Given the description of an element on the screen output the (x, y) to click on. 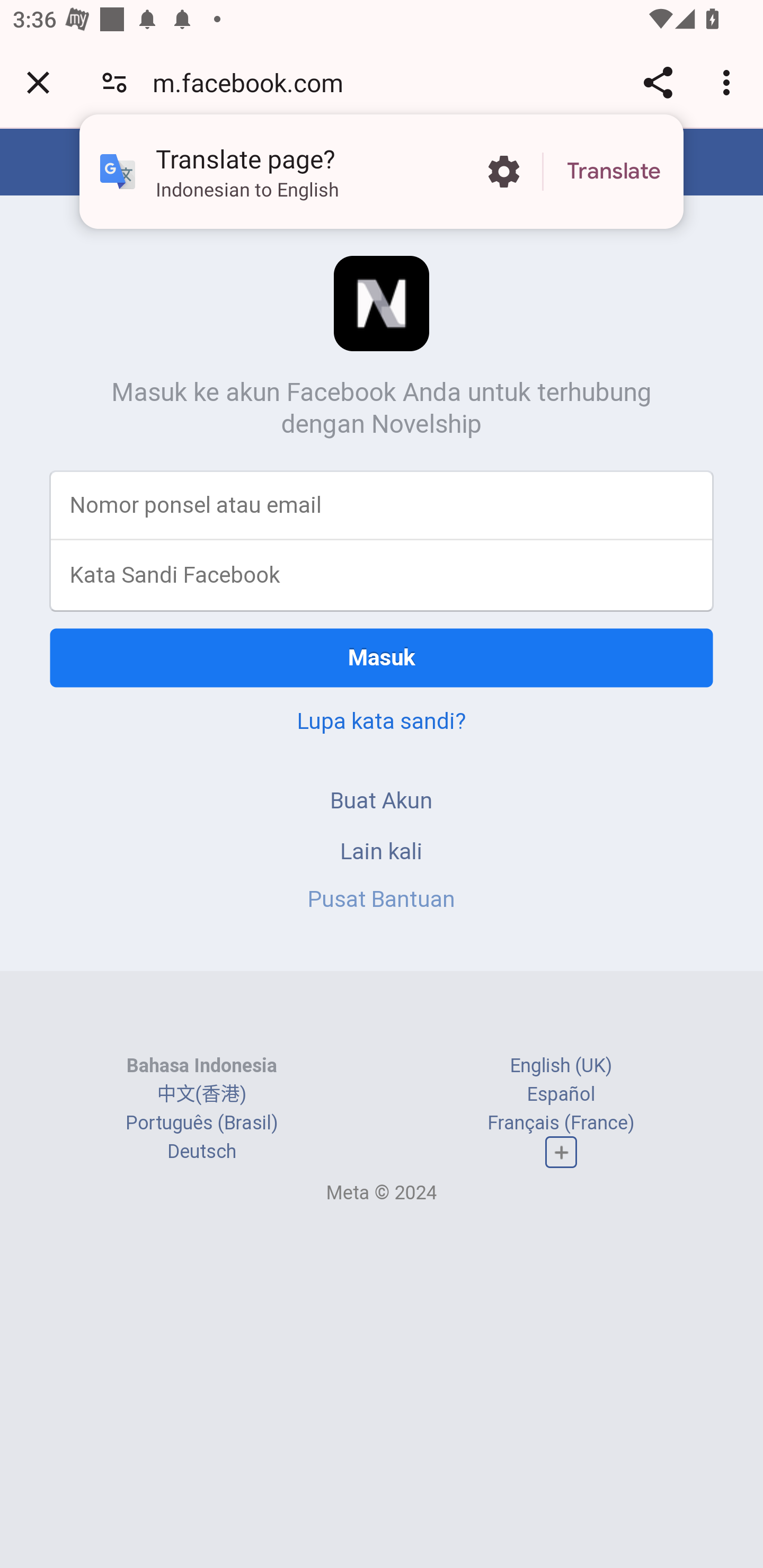
Close tab (38, 82)
Share (657, 82)
Customize and control Google Chrome (729, 82)
Connection is secure (114, 81)
m.facebook.com (254, 81)
Translate (613, 171)
More options in the Translate page? (503, 171)
Masuk (381, 657)
Lupa kata sandi? (381, 720)
Buat Akun (381, 800)
Lain kali (381, 850)
Pusat Bantuan (381, 898)
English (UK) (560, 1065)
中文(香港) (201, 1093)
Español (560, 1093)
Português (Brasil) (201, 1122)
Français (France) (560, 1122)
Daftar bahasa lengkap (560, 1152)
Deutsch (201, 1151)
